Given the description of an element on the screen output the (x, y) to click on. 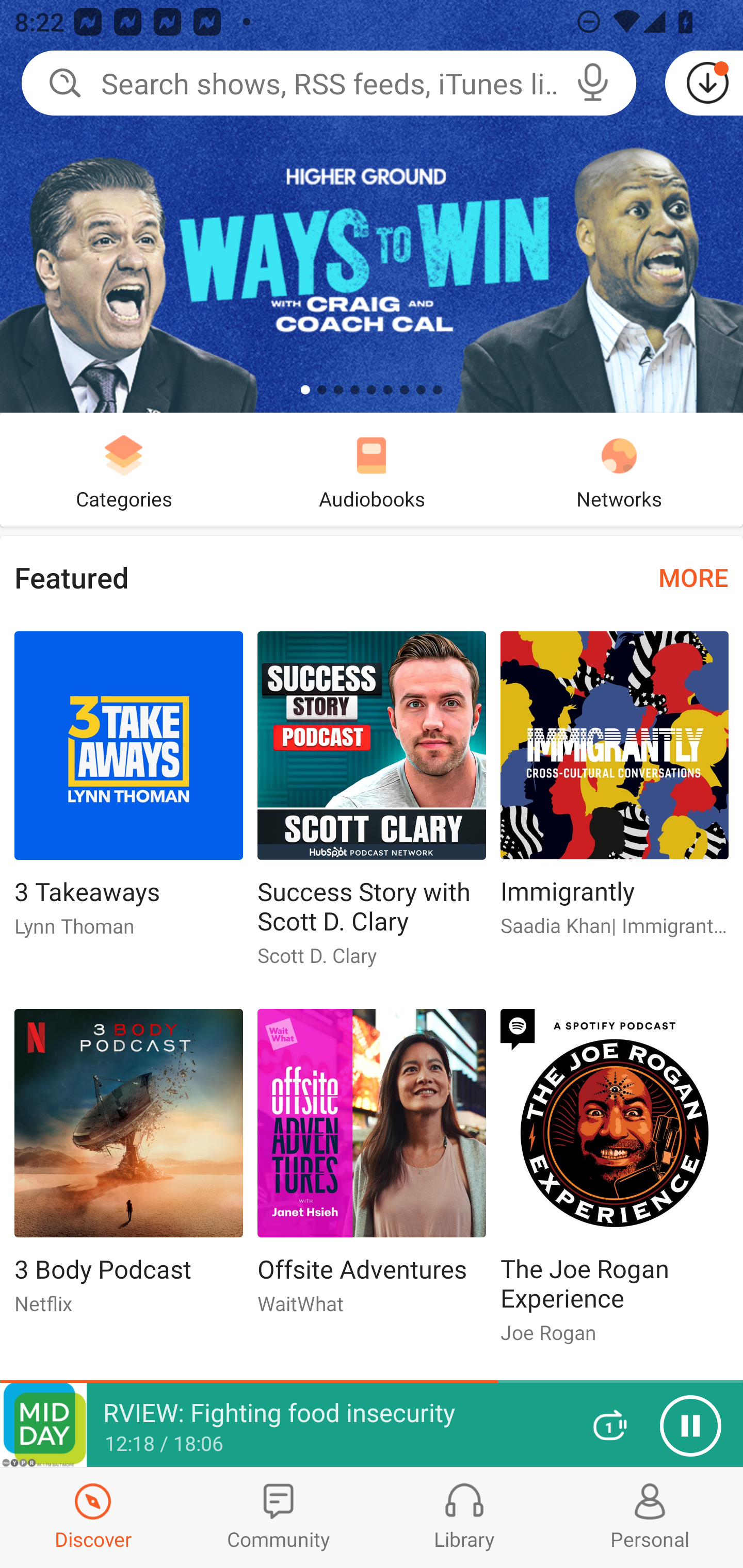
Ways To Win (371, 206)
Categories (123, 469)
Audiobooks (371, 469)
Networks (619, 469)
MORE (693, 576)
3 Takeaways 3 Takeaways Lynn Thoman (128, 792)
3 Body Podcast 3 Body Podcast Netflix (128, 1169)
Offsite Adventures Offsite Adventures WaitWhat (371, 1169)
Pause (690, 1425)
Discover (92, 1517)
Community (278, 1517)
Library (464, 1517)
Profiles and Settings Personal (650, 1517)
